Given the description of an element on the screen output the (x, y) to click on. 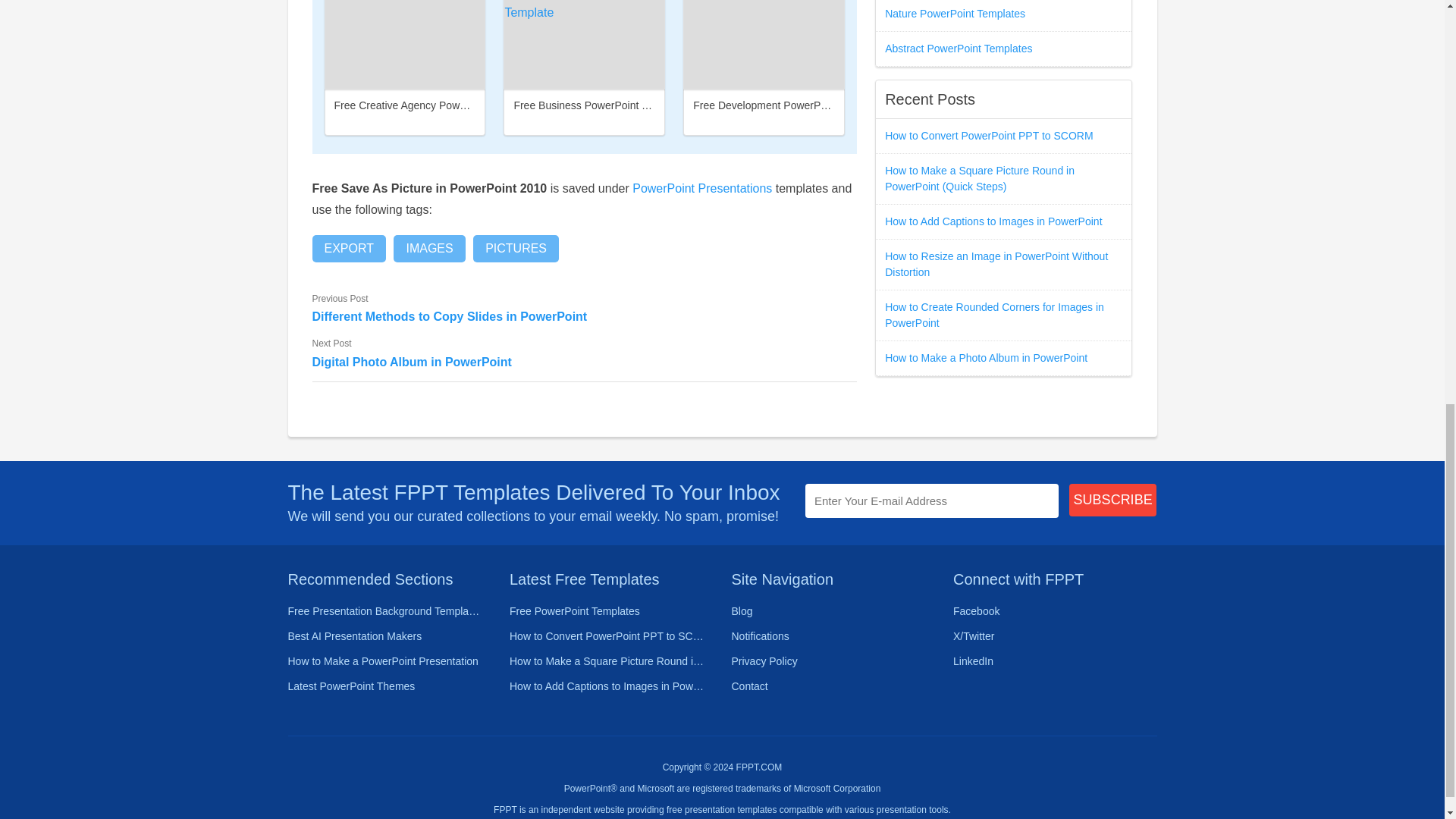
PowerPoint Presentations (701, 187)
PICTURES (516, 248)
Free Business PowerPoint Template (598, 105)
IMAGES (428, 248)
Free Creative Agency PowerPoint template (435, 105)
Free Business Presentation PowerPoint Template (583, 44)
Free Creative Agency PowerPoint template (404, 44)
Free Development PowerPoint Template (788, 105)
Digital Photo Album in PowerPoint (585, 362)
EXPORT (350, 248)
